Given the description of an element on the screen output the (x, y) to click on. 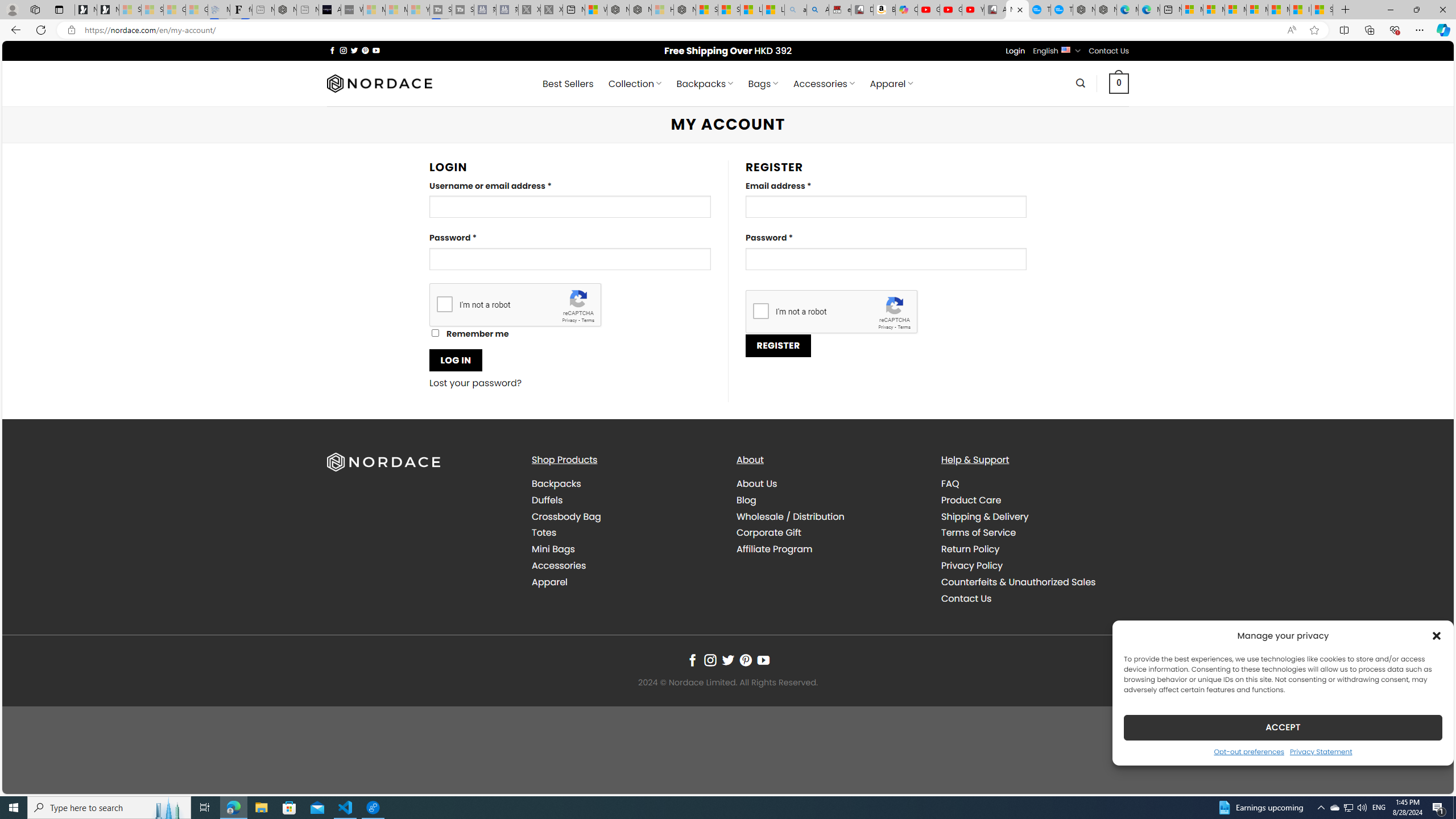
Privacy Statement (1321, 750)
YouTube Kids - An App Created for Kids to Explore Content (972, 9)
Privacy Policy (971, 565)
 Best Sellers (568, 83)
I Gained 20 Pounds of Muscle in 30 Days! | Watch (1300, 9)
